Given the description of an element on the screen output the (x, y) to click on. 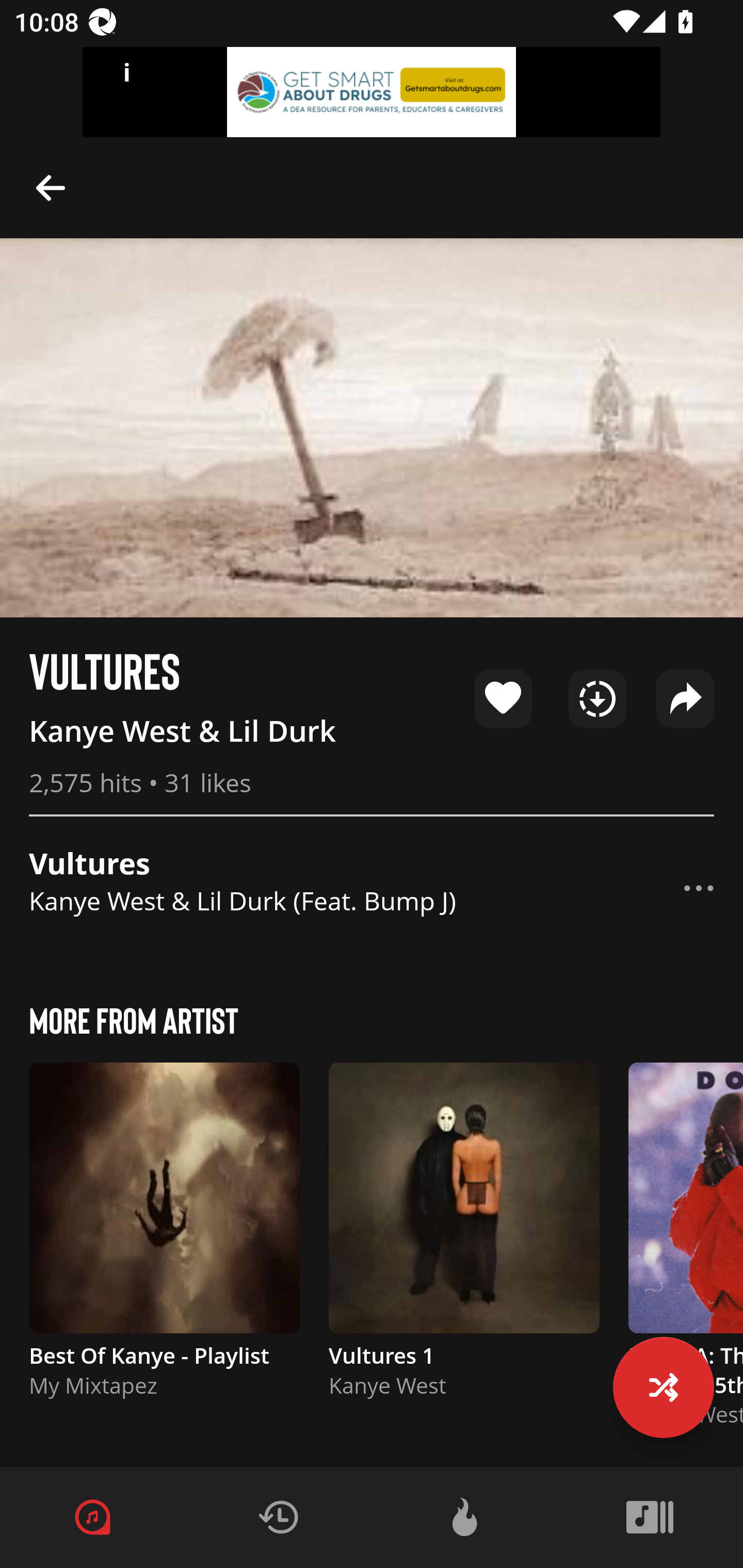
Description (50, 187)
Description (698, 888)
Description Best Of Kanye - Playlist My Mixtapez (164, 1238)
Description Vultures 1 Kanye West (463, 1238)
